Given the description of an element on the screen output the (x, y) to click on. 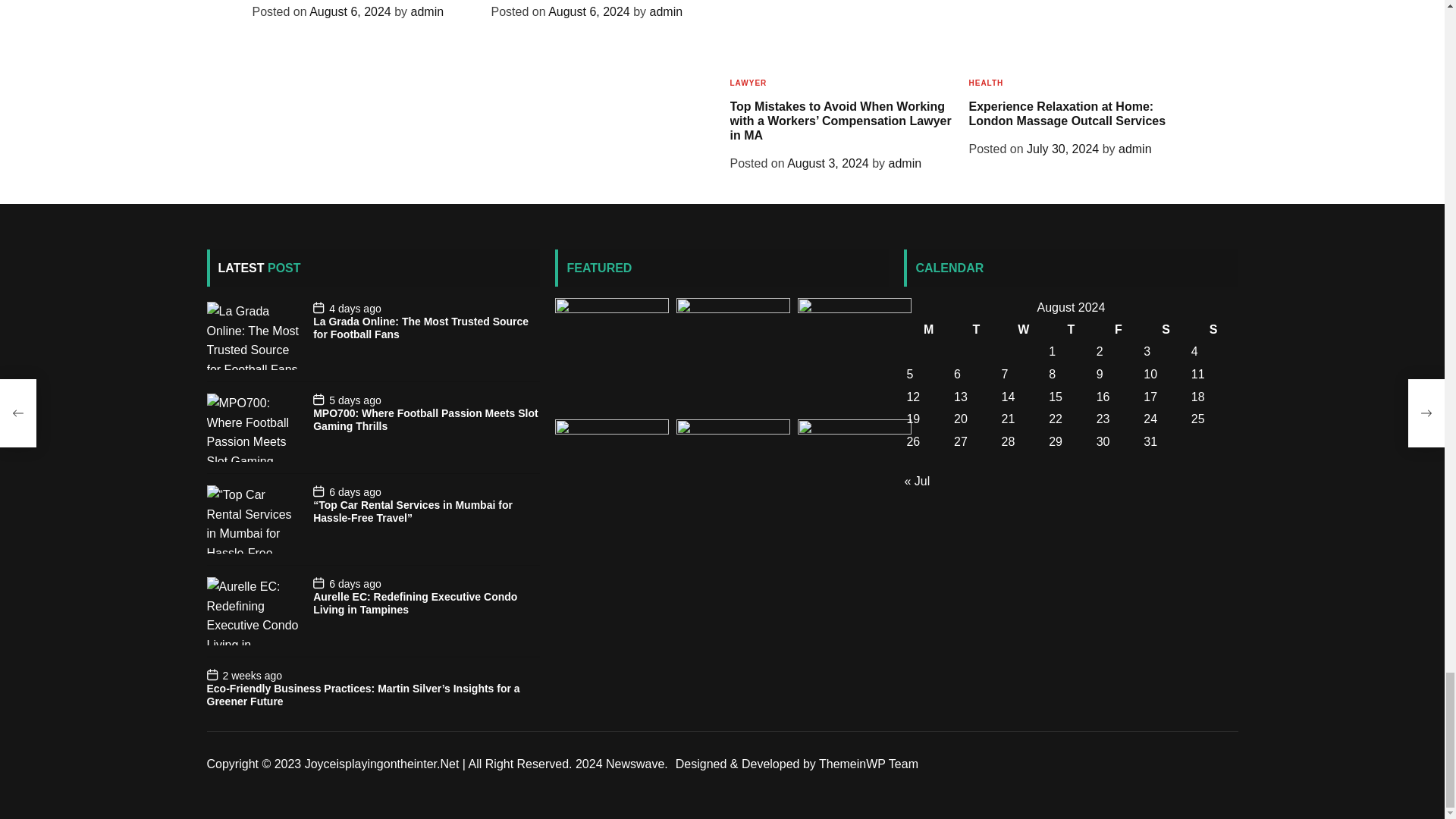
Saturday (1165, 329)
Monday (928, 329)
Sunday (1213, 329)
Wednesday (1023, 329)
Friday (1118, 329)
Thursday (1071, 329)
Tuesday (975, 329)
